Given the description of an element on the screen output the (x, y) to click on. 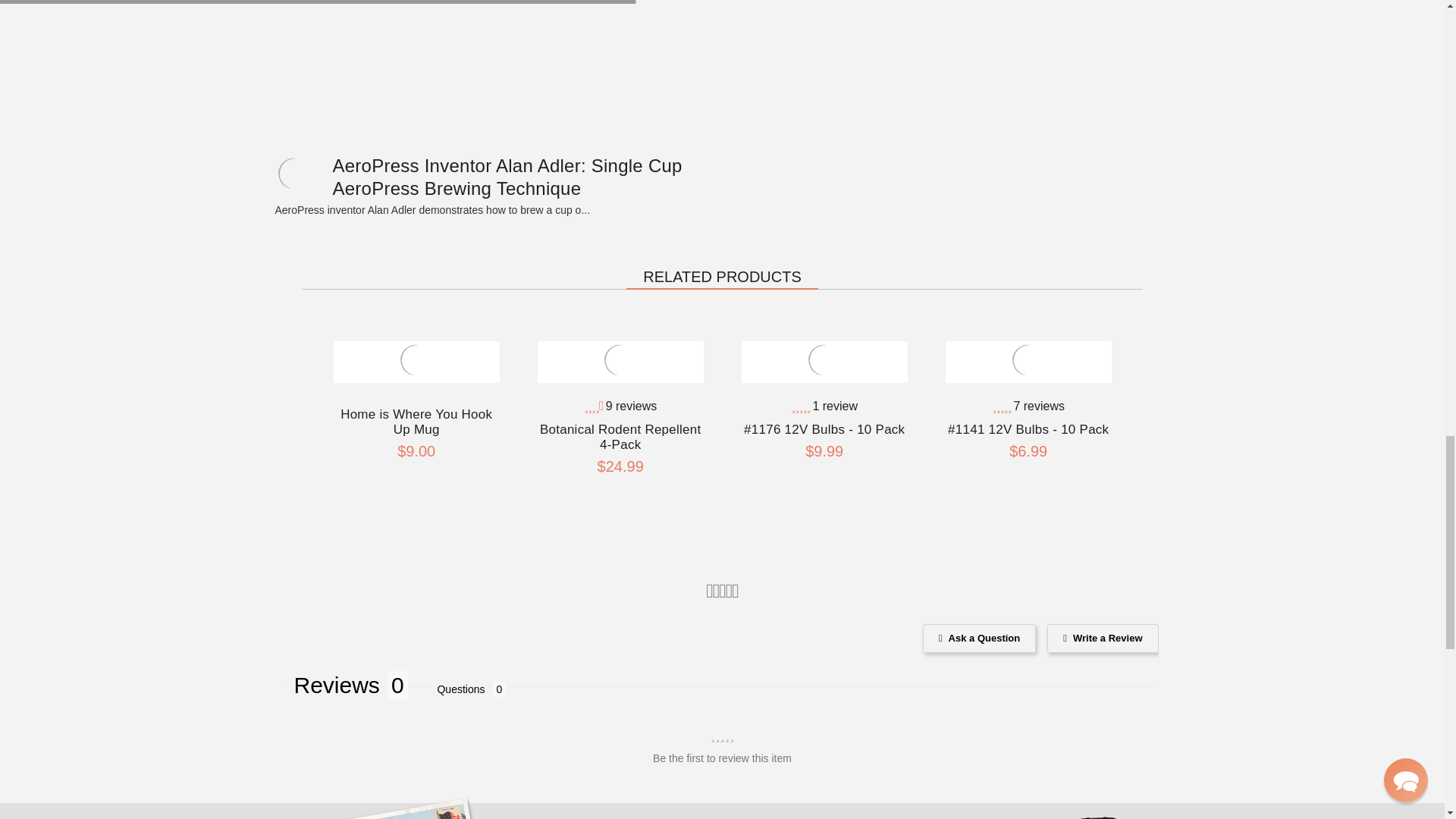
Botanical Rodent Repellent 4-Pack (620, 360)
Home is Where You Hook Up Mug (416, 360)
